Given the description of an element on the screen output the (x, y) to click on. 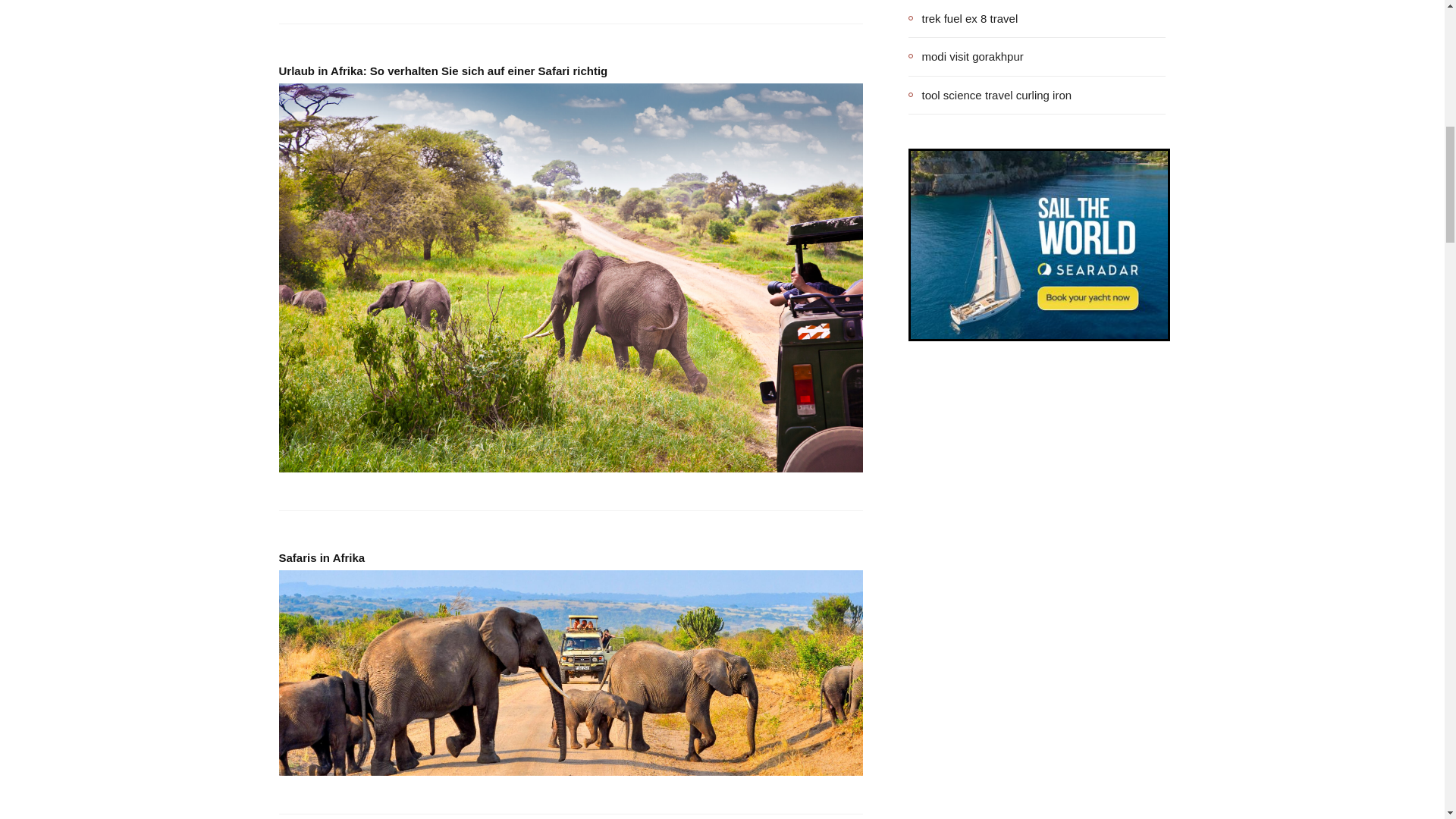
modi visit gorakhpur (965, 56)
reise afrika safari (571, 672)
trek fuel ex 8 travel (962, 18)
tool science travel curling iron (989, 94)
